Given the description of an element on the screen output the (x, y) to click on. 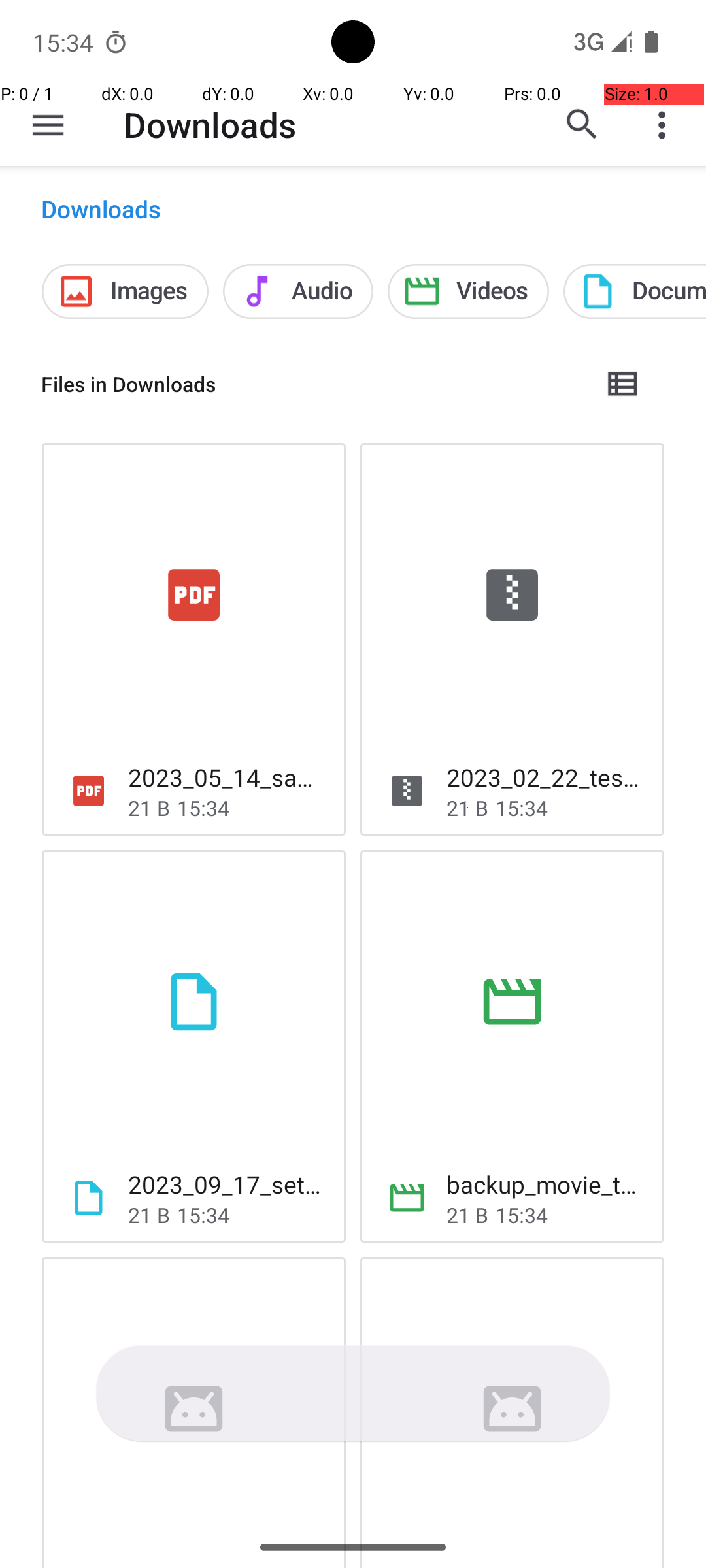
2023_05_14_sample_pdf.pdf Element type: android.widget.TextView (226, 776)
21 B Element type: android.widget.TextView (148, 807)
2023_02_22_test_download.zip Element type: android.widget.TextView (544, 776)
2023_09_17_setup_exe.exe Element type: android.widget.TextView (226, 1183)
backup_movie_trailer.mp4 Element type: android.widget.TextView (544, 1183)
